Given the description of an element on the screen output the (x, y) to click on. 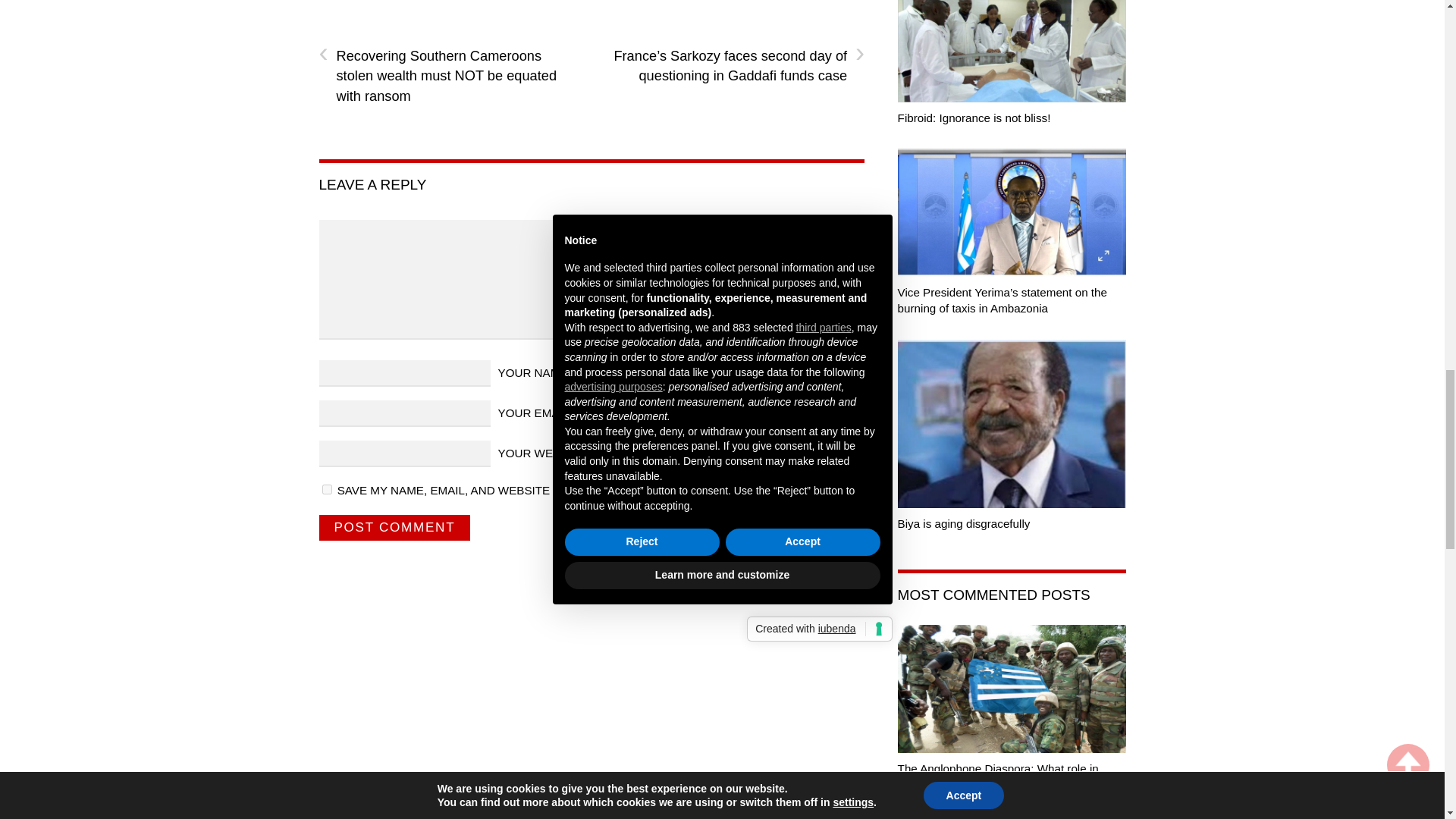
Post Comment (394, 527)
yes (326, 489)
